Given the description of an element on the screen output the (x, y) to click on. 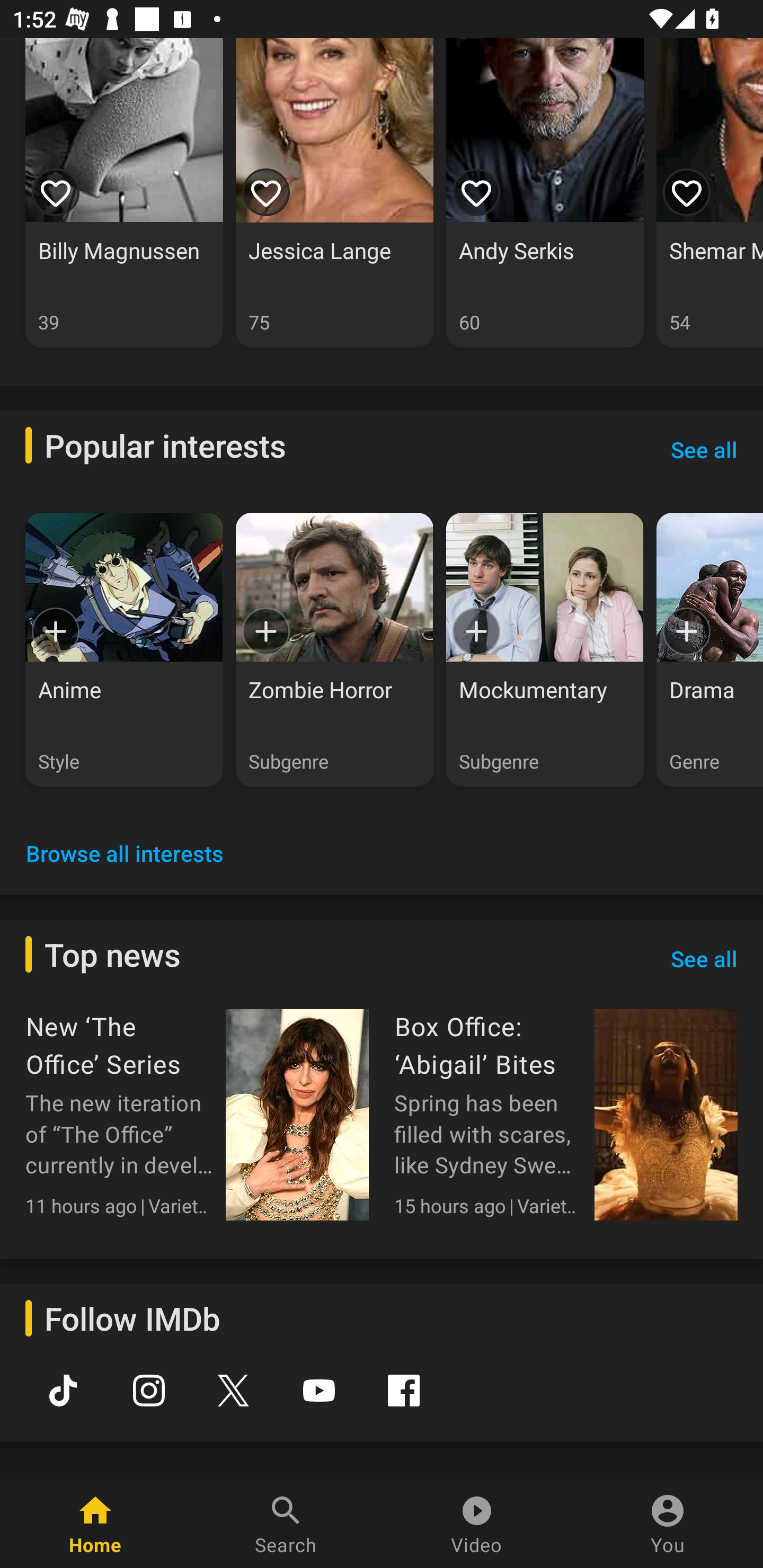
Billy Magnussen 39 (123, 192)
Jessica Lange 75 (334, 192)
Andy Serkis 60 (544, 192)
See all See all Popular interests (703, 448)
Anime Style (123, 649)
Zombie Horror Subgenre (334, 649)
Mockumentary Subgenre (544, 649)
Browse all interests (124, 852)
See all See all Top news (703, 958)
Search (285, 1523)
Video (476, 1523)
You (667, 1523)
